Given the description of an element on the screen output the (x, y) to click on. 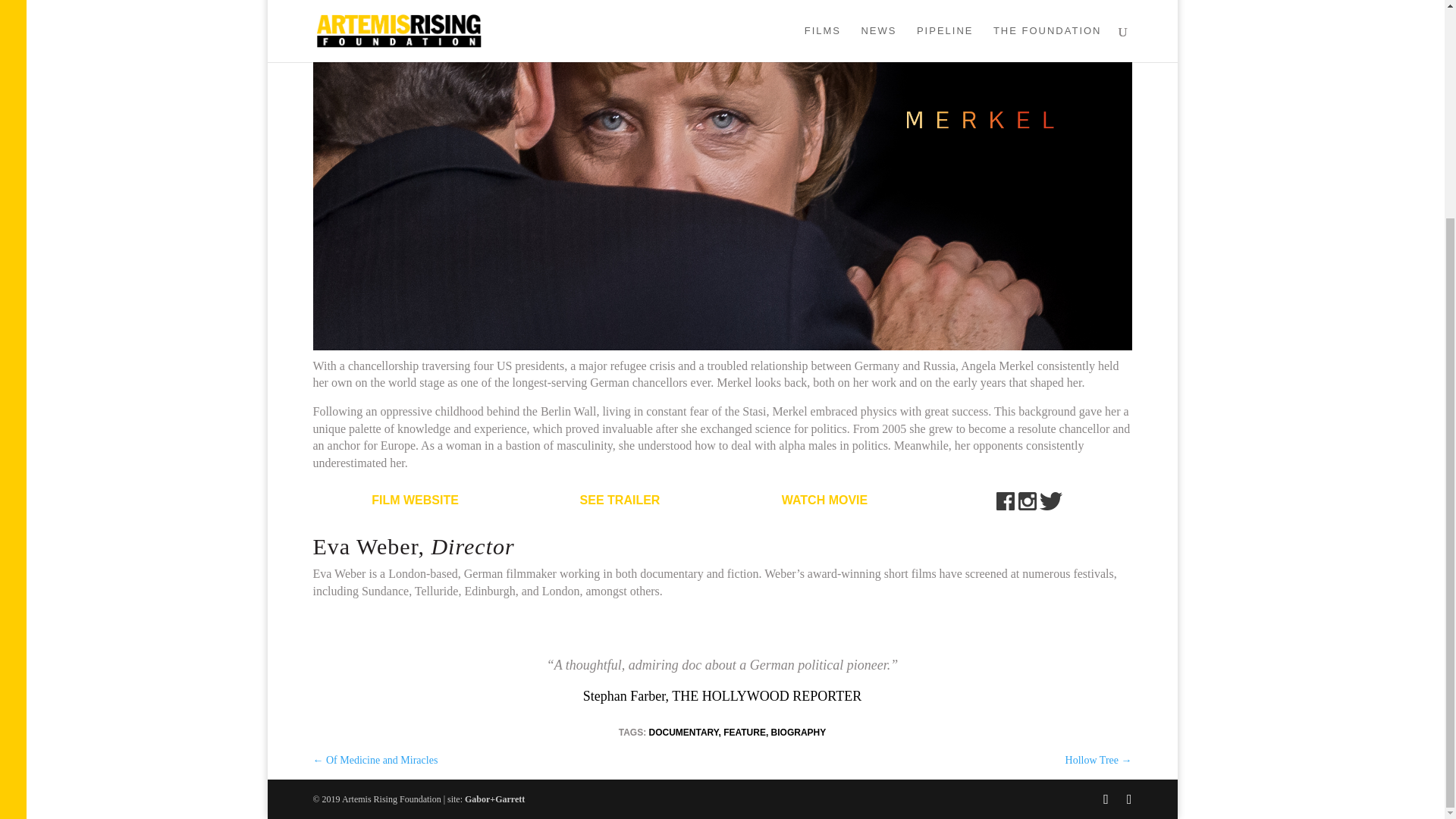
FEATURE (744, 732)
SEE TRAILER (620, 499)
WATCH MOVIE (824, 499)
FILM WEBSITE (414, 499)
BIOGRAPHY (799, 732)
DOCUMENTARY (682, 732)
